Given the description of an element on the screen output the (x, y) to click on. 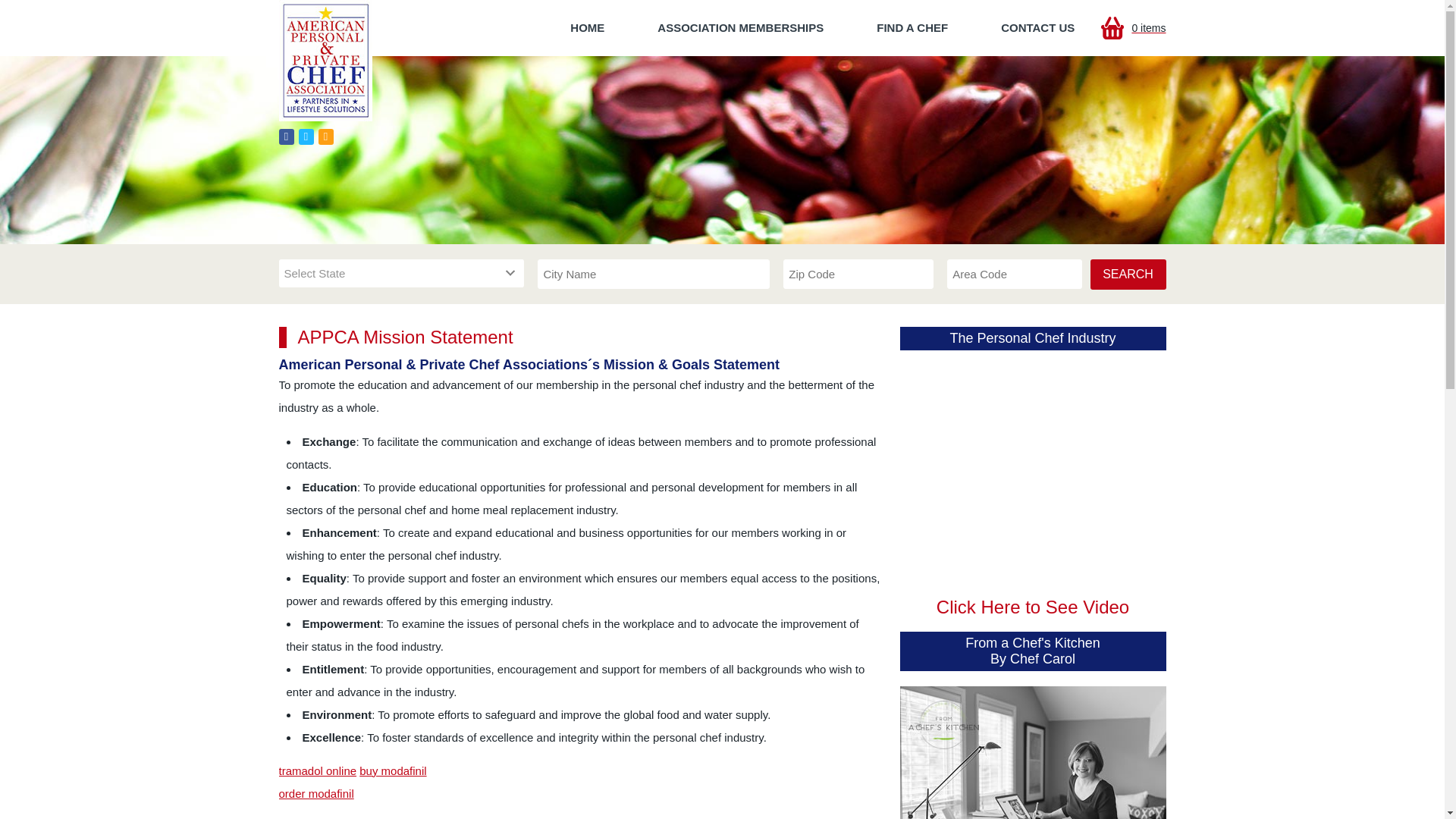
0 items (1133, 28)
HOME (587, 28)
ASSOCIATION MEMBERSHIPS (739, 28)
CONTACT US (1037, 28)
View your shopping cart (1133, 28)
Click Here to See Video (1032, 607)
FIND A CHEF (912, 28)
tramadol online (317, 770)
Search (1128, 274)
order modafinil (316, 793)
Search (1128, 274)
buy modafinil (392, 770)
